Given the description of an element on the screen output the (x, y) to click on. 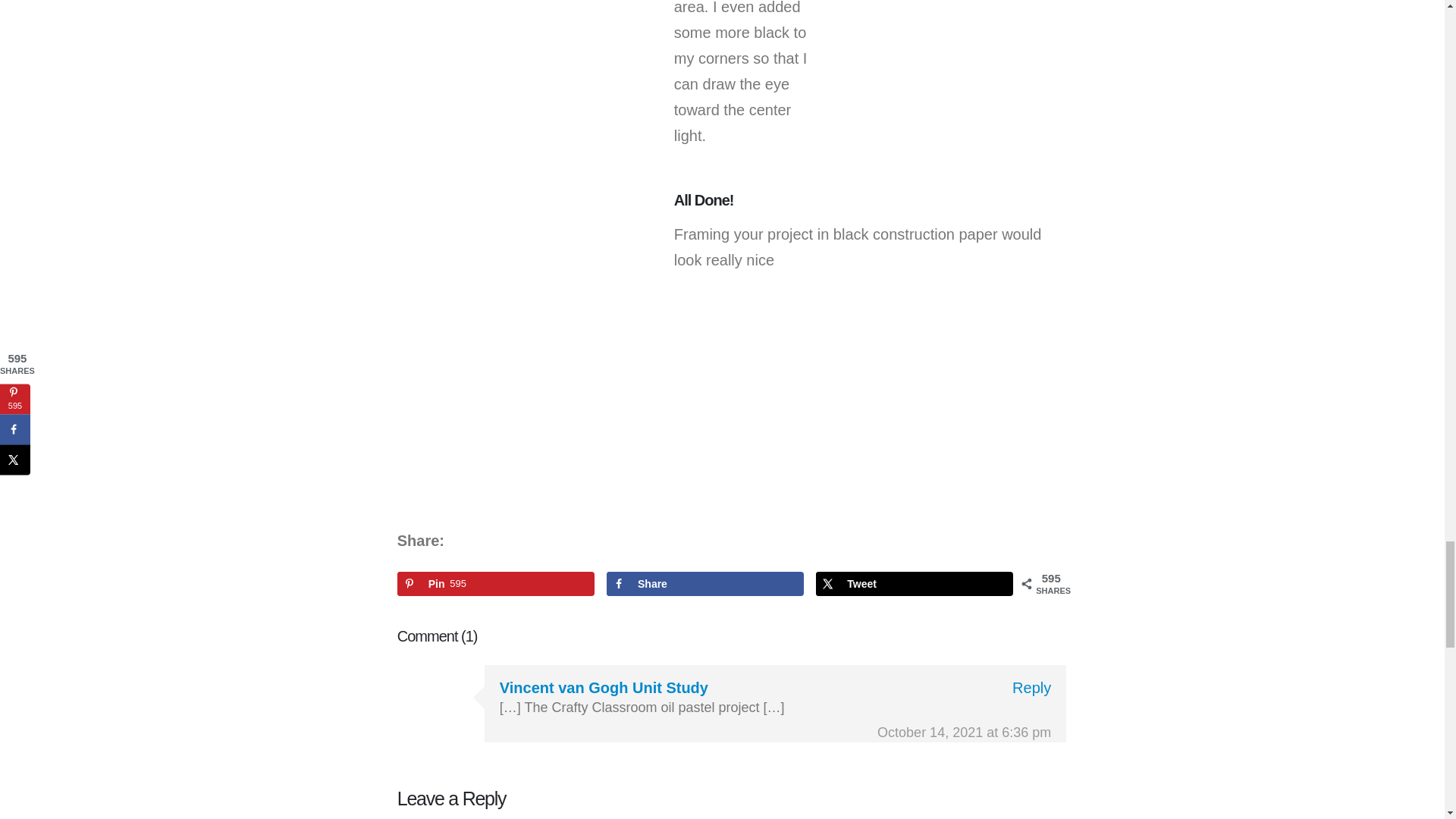
Share on Facebook (705, 583)
Share on X (914, 583)
Save to Pinterest (495, 583)
